Given the description of an element on the screen output the (x, y) to click on. 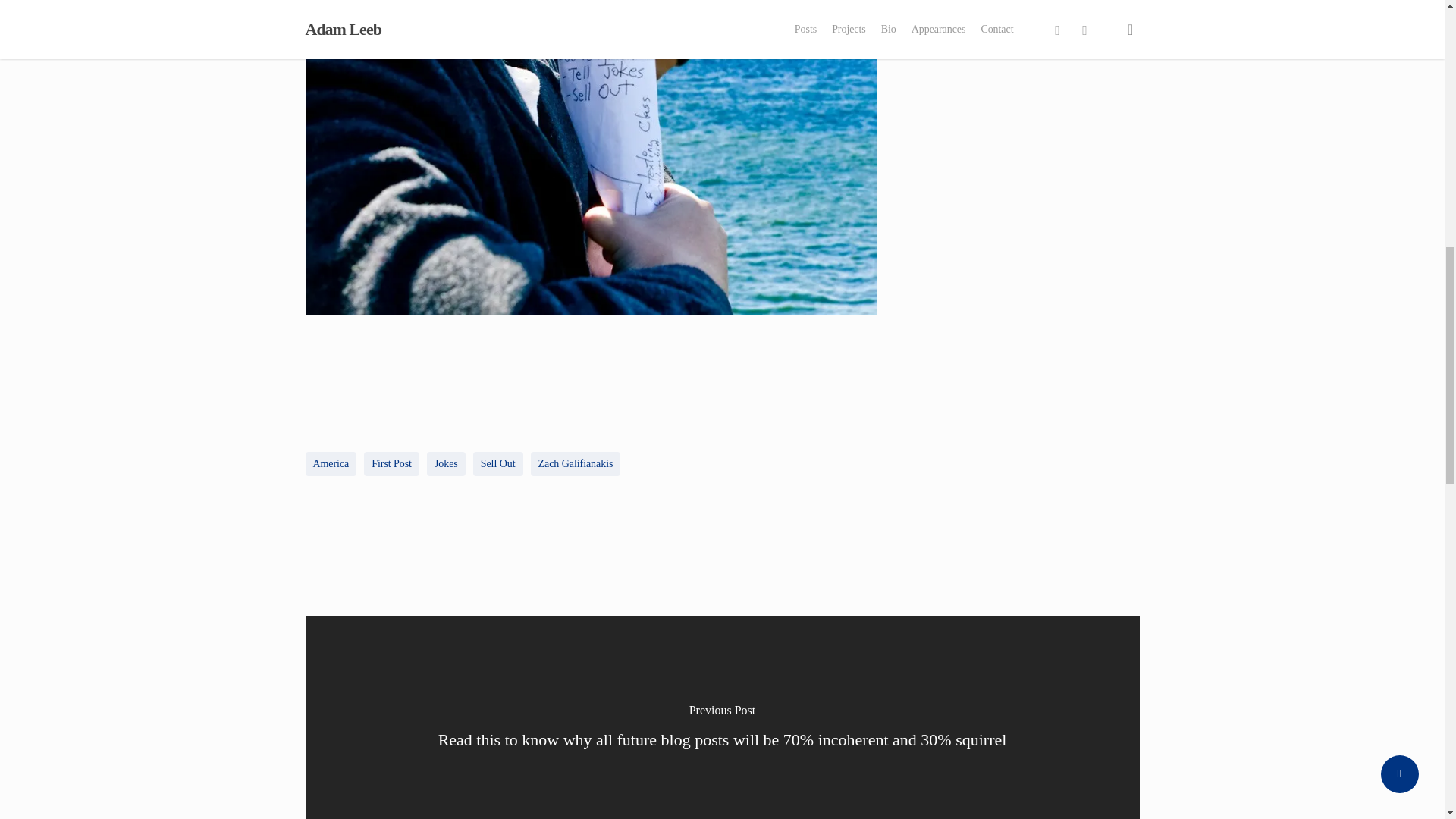
Jokes (445, 463)
America (330, 463)
First Post (391, 463)
Sell Out (497, 463)
Zach Galifianakis (576, 463)
